Given the description of an element on the screen output the (x, y) to click on. 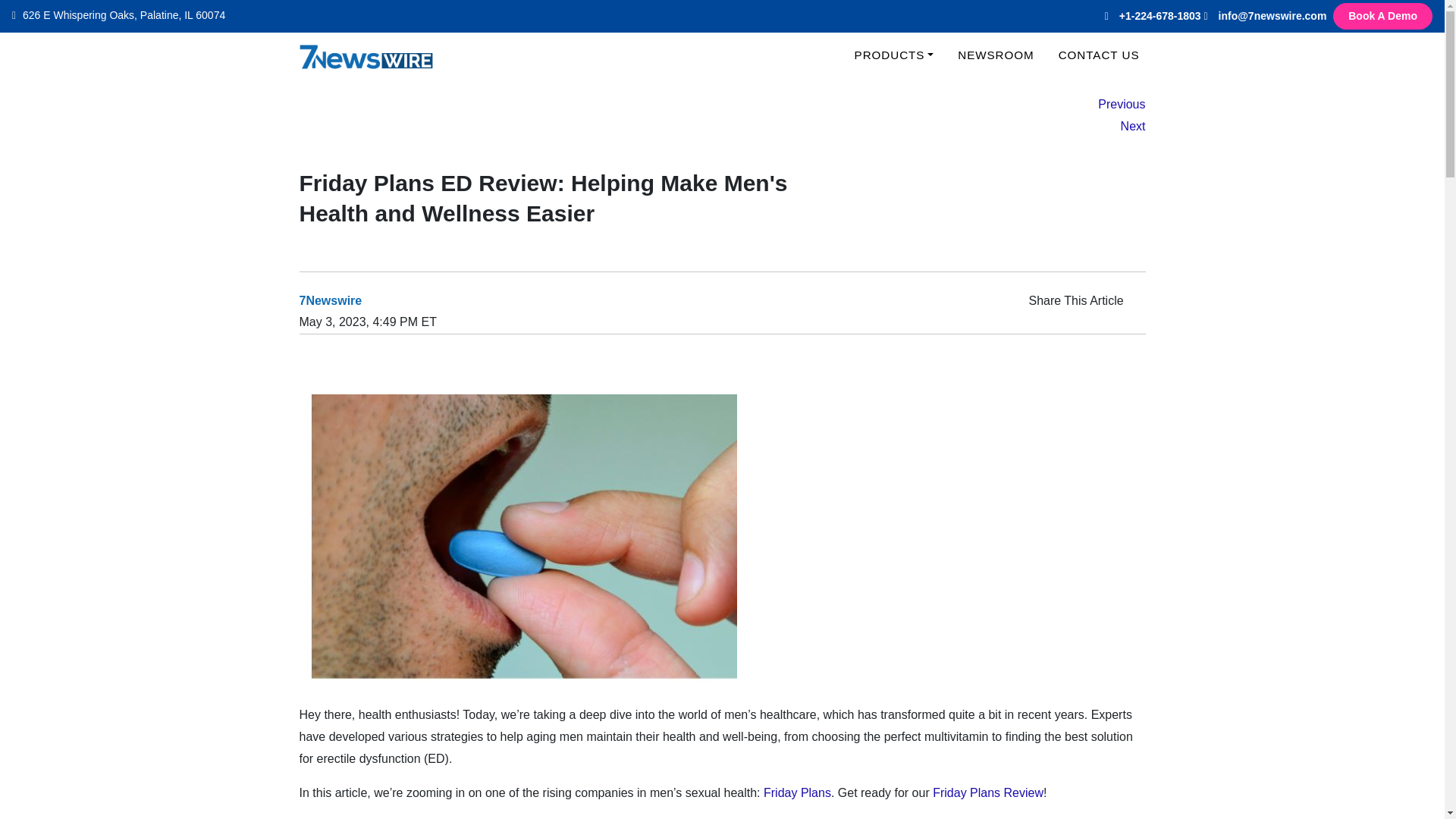
Previous (1120, 105)
CONTACT US (1098, 54)
Book A Demo (1382, 16)
Next (1120, 127)
Friday Plans Review (988, 792)
Friday Plans (796, 792)
PRODUCTS (894, 54)
NEWSROOM (995, 54)
NEWSROOM (995, 54)
CONTACT US (1098, 54)
